Given the description of an element on the screen output the (x, y) to click on. 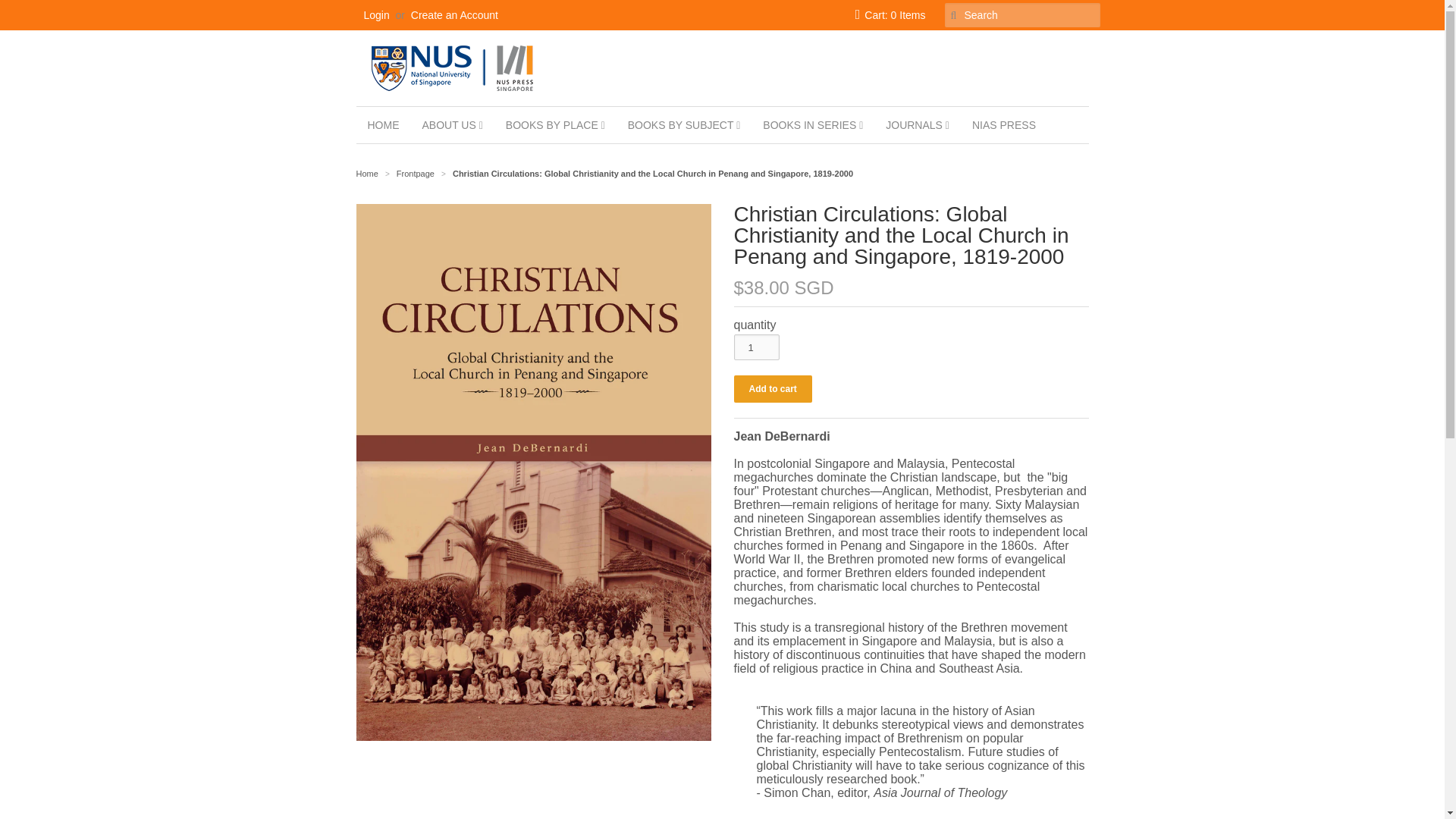
Cart (891, 15)
Create an Account (453, 15)
1 (755, 347)
Cart: 0 Items (891, 15)
NUS Press (367, 173)
Login (377, 15)
Frontpage (416, 173)
Add to cart (772, 388)
